Given the description of an element on the screen output the (x, y) to click on. 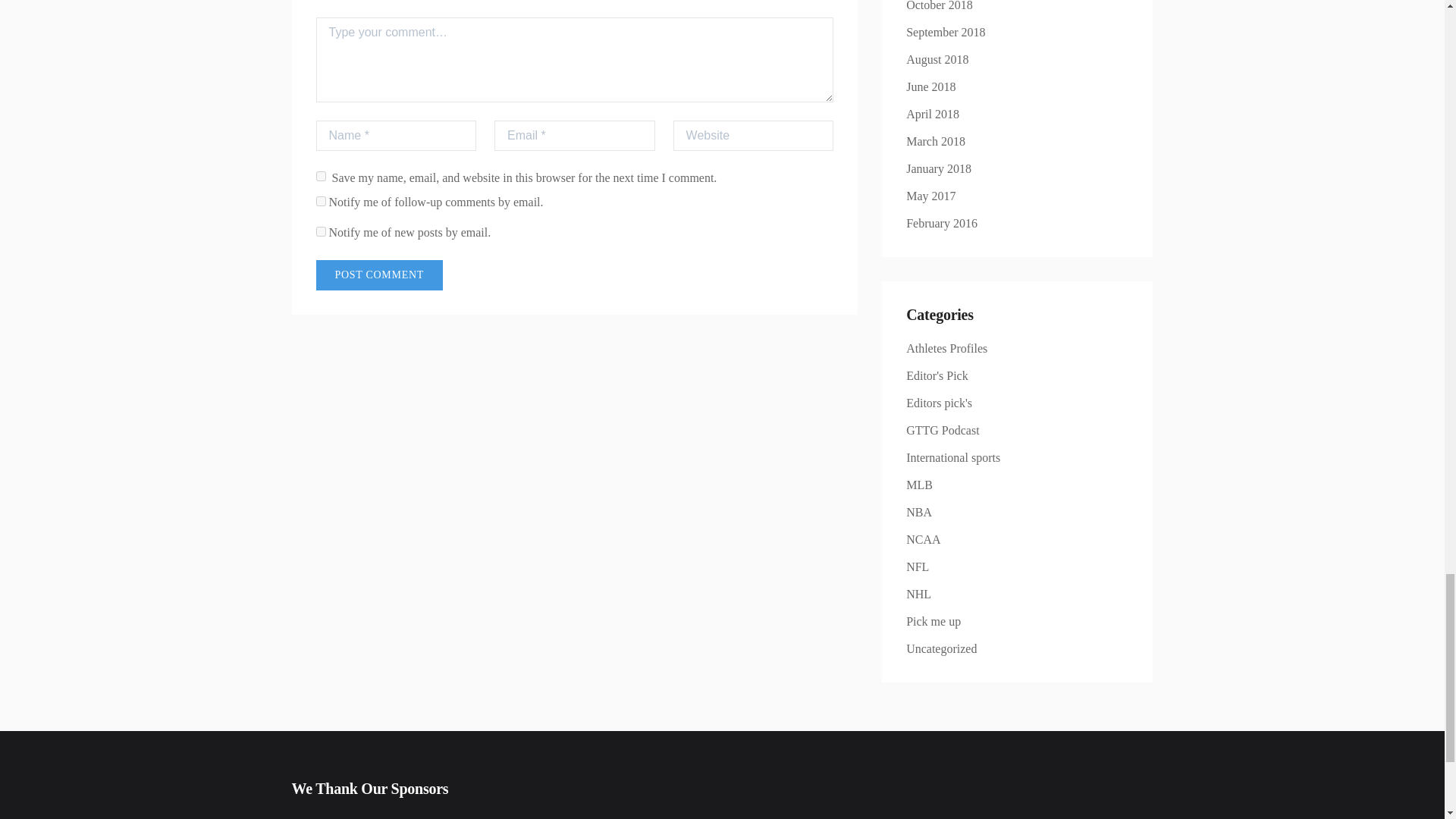
Post Comment (378, 275)
Click here to read inspiring sports stories from the NBA. (918, 512)
yes (319, 175)
subscribe (319, 231)
subscribe (319, 201)
